Given the description of an element on the screen output the (x, y) to click on. 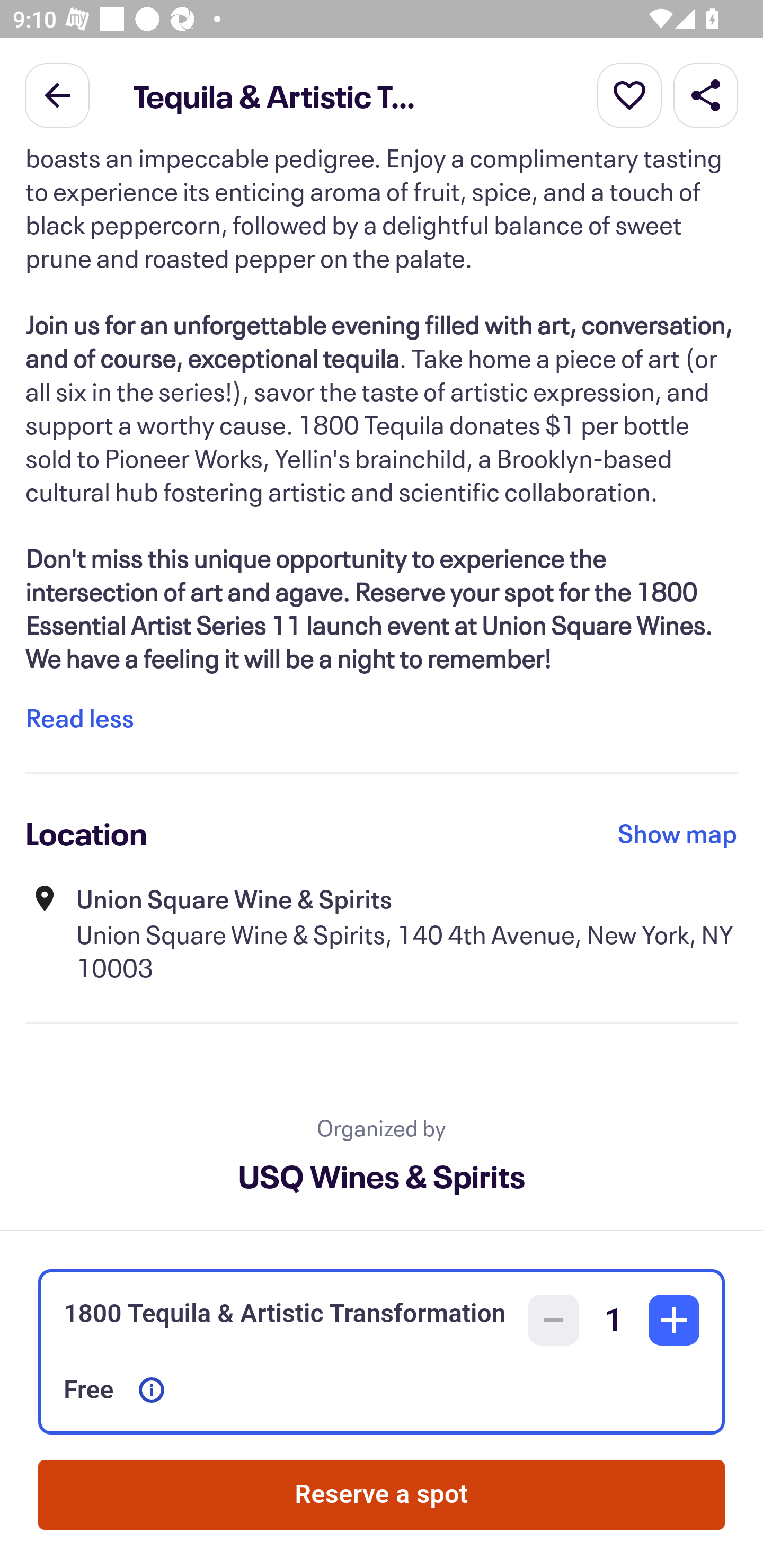
Back (57, 94)
More (629, 94)
Share (705, 94)
Read less (79, 716)
Show map (677, 832)
USQ Wines & Spirits (381, 1175)
Decrease (553, 1320)
Increase (673, 1320)
Show more information (151, 1389)
Reserve a spot (381, 1494)
